Given the description of an element on the screen output the (x, y) to click on. 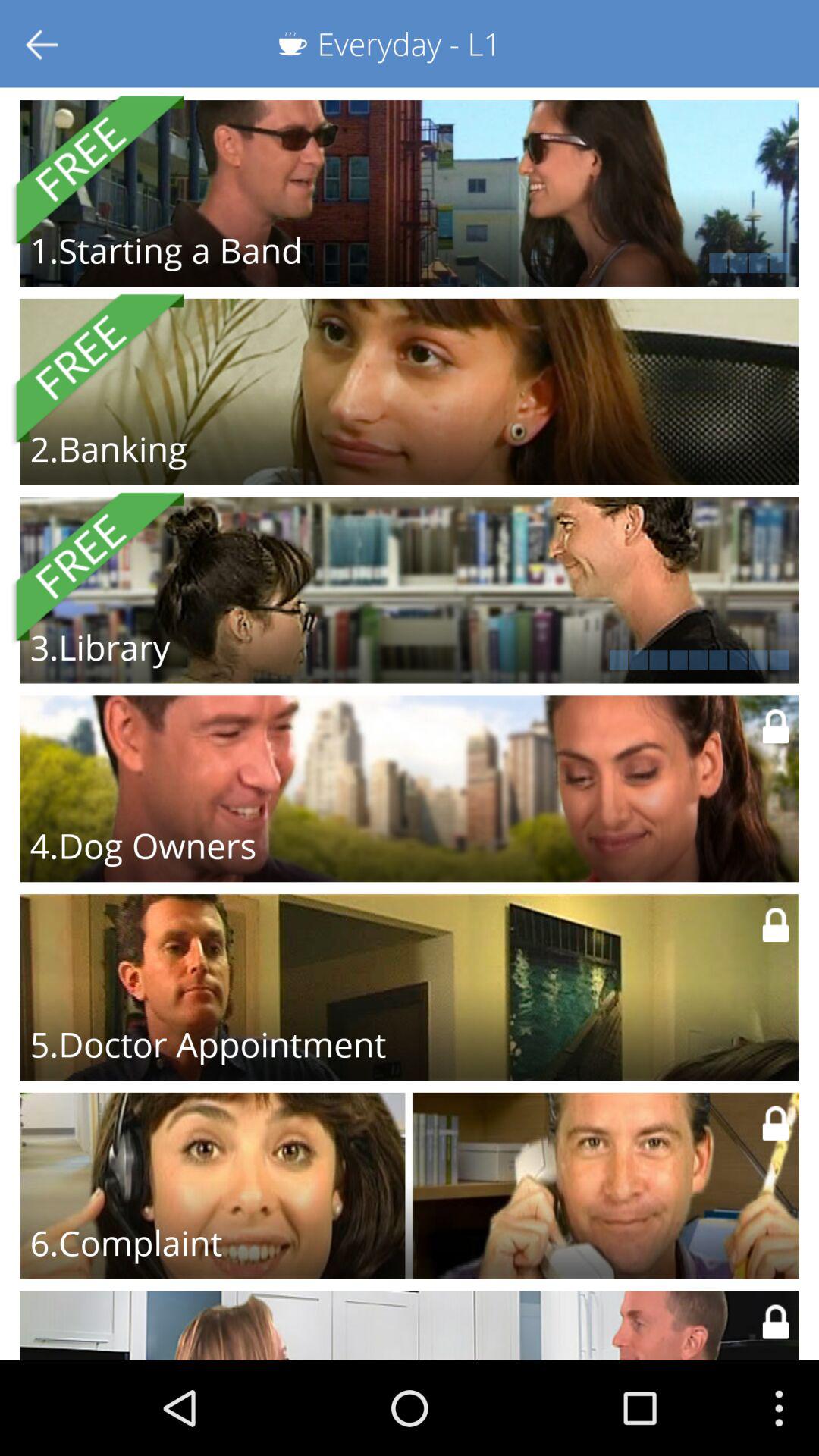
turn on the item to the right of 1 starting a icon (608, 263)
